Given the description of an element on the screen output the (x, y) to click on. 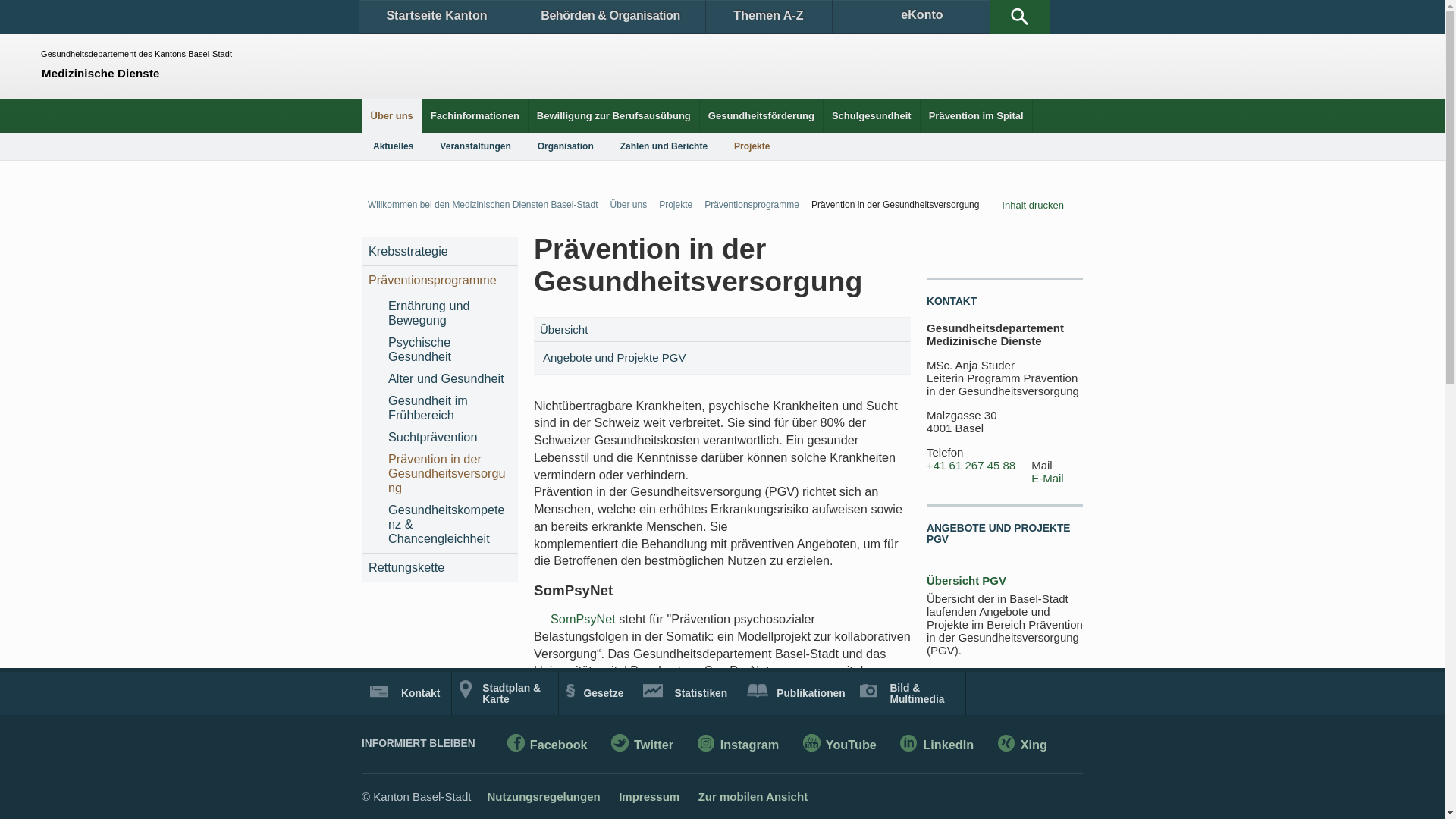
LinkedIn Element type: text (936, 746)
Stadtplan & Karte Element type: text (504, 693)
Inhalt drucken Element type: text (1041, 204)
Startseite Kanton Element type: text (435, 17)
Aktuelles Element type: text (392, 145)
Organisation Element type: text (565, 145)
+41 61 267 45 88 Element type: text (970, 465)
Psychische Gesundheit Element type: text (449, 349)
Publikationen Element type: text (795, 693)
Themen A-Z Element type: text (768, 17)
Veranstaltungen Element type: text (474, 145)
YouTube Element type: text (839, 746)
Projekte Element type: text (751, 145)
Fachinformationen Element type: text (474, 115)
Schulgesundheit Element type: text (871, 115)
eKonto Element type: text (910, 17)
Alter und Gesundheit Element type: text (449, 378)
Zur mobilen Ansicht Element type: text (752, 796)
Nutzungsregelungen Element type: text (542, 796)
Krebsstrategie Element type: text (439, 251)
Impressum Element type: text (648, 796)
Bild & Multimedia Element type: text (908, 693)
Instagram Element type: text (738, 746)
Angebote und Projekte PGV Element type: text (620, 357)
Gesetze Element type: text (597, 693)
Statistiken Element type: text (687, 693)
Gesundheitskompetenz & Chancengleichheit Element type: text (449, 523)
Kontakt Element type: text (406, 693)
Projekte Element type: text (672, 204)
Xing Element type: text (1022, 746)
Rettungskette Element type: text (439, 567)
Facebook Element type: text (547, 746)
Willkommen bei den Medizinischen Diensten Basel-Stadt Element type: text (479, 204)
SomPsyNet Element type: text (582, 618)
Twitter Element type: text (642, 746)
Zahlen und Berichte Element type: text (663, 145)
E-Mail Element type: text (1047, 478)
